Given the description of an element on the screen output the (x, y) to click on. 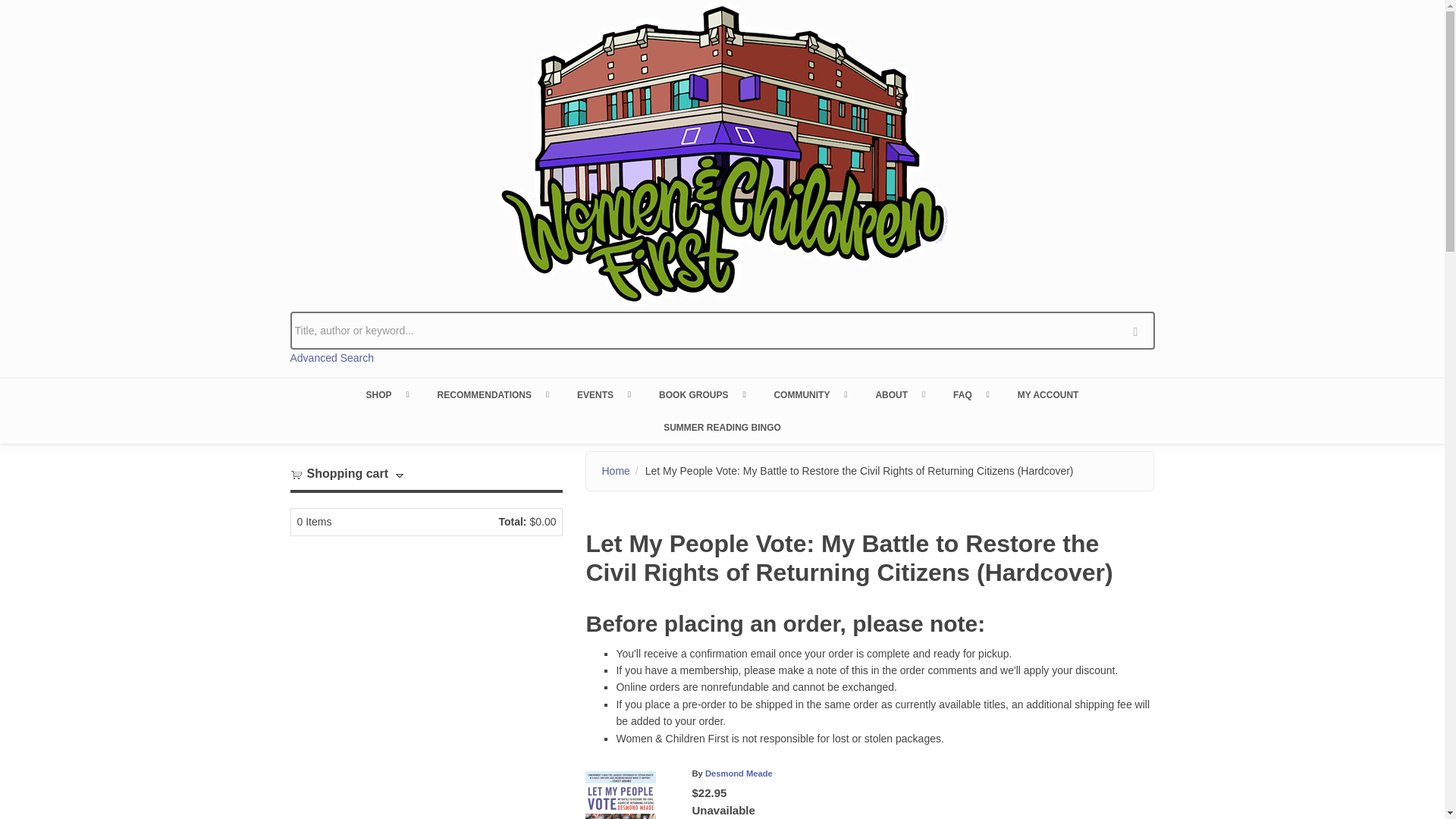
SHOP (386, 394)
About the Owners and the History of Women and Children First (898, 394)
RECOMMENDATIONS (492, 394)
Instructions for summer bingo! (721, 427)
Title, author or keyword... (721, 330)
Advanced Search (331, 357)
EVENTS (602, 394)
Home (722, 152)
View your shopping cart. (295, 473)
